Given the description of an element on the screen output the (x, y) to click on. 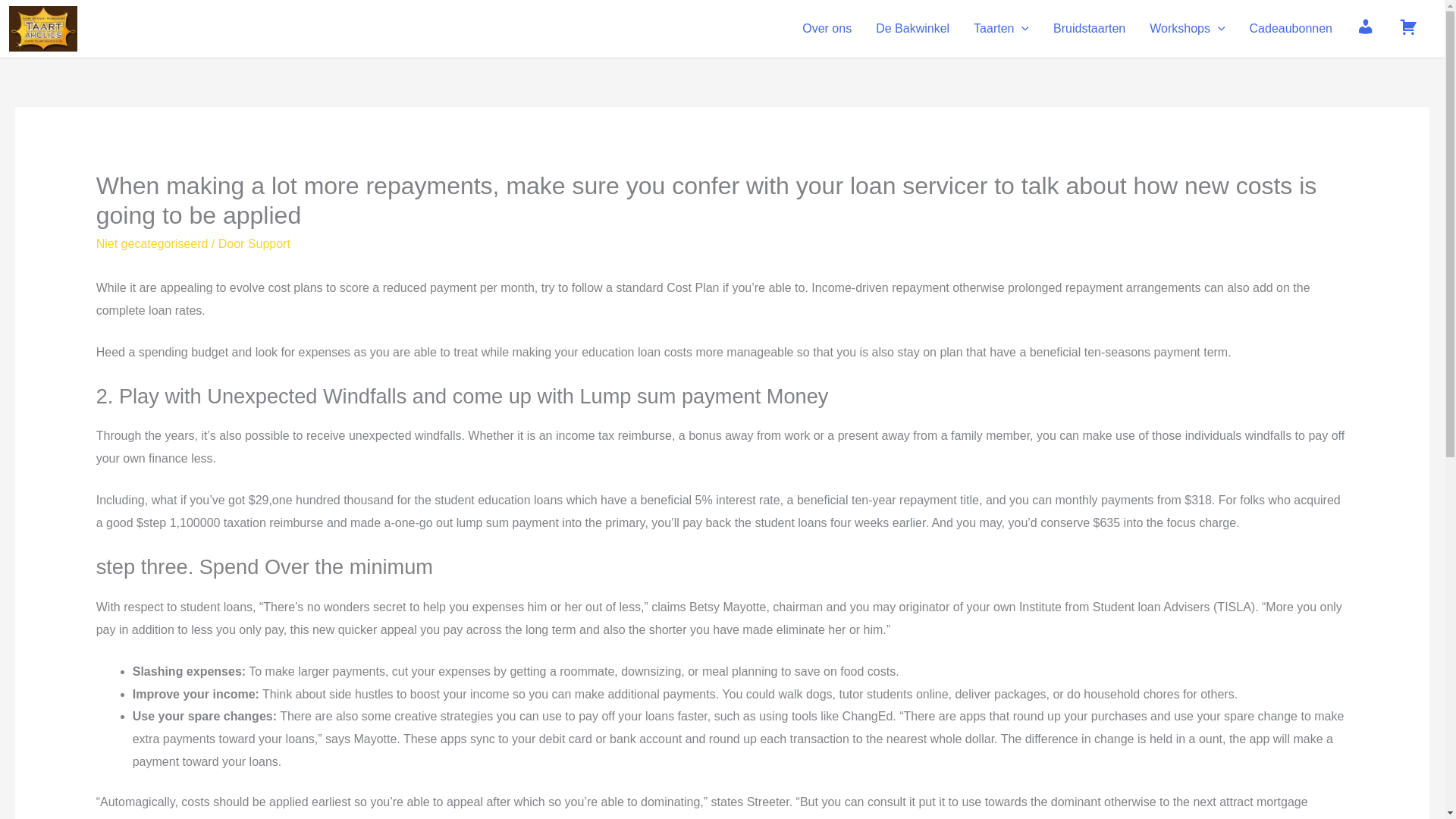
Taarten (1000, 28)
De Bakwinkel (911, 28)
Workshops (1186, 28)
Cadeaubonnen (1290, 28)
Bruidstaarten (1089, 28)
Over ons (826, 28)
Alle posts weergeven van Support (268, 243)
